Given the description of an element on the screen output the (x, y) to click on. 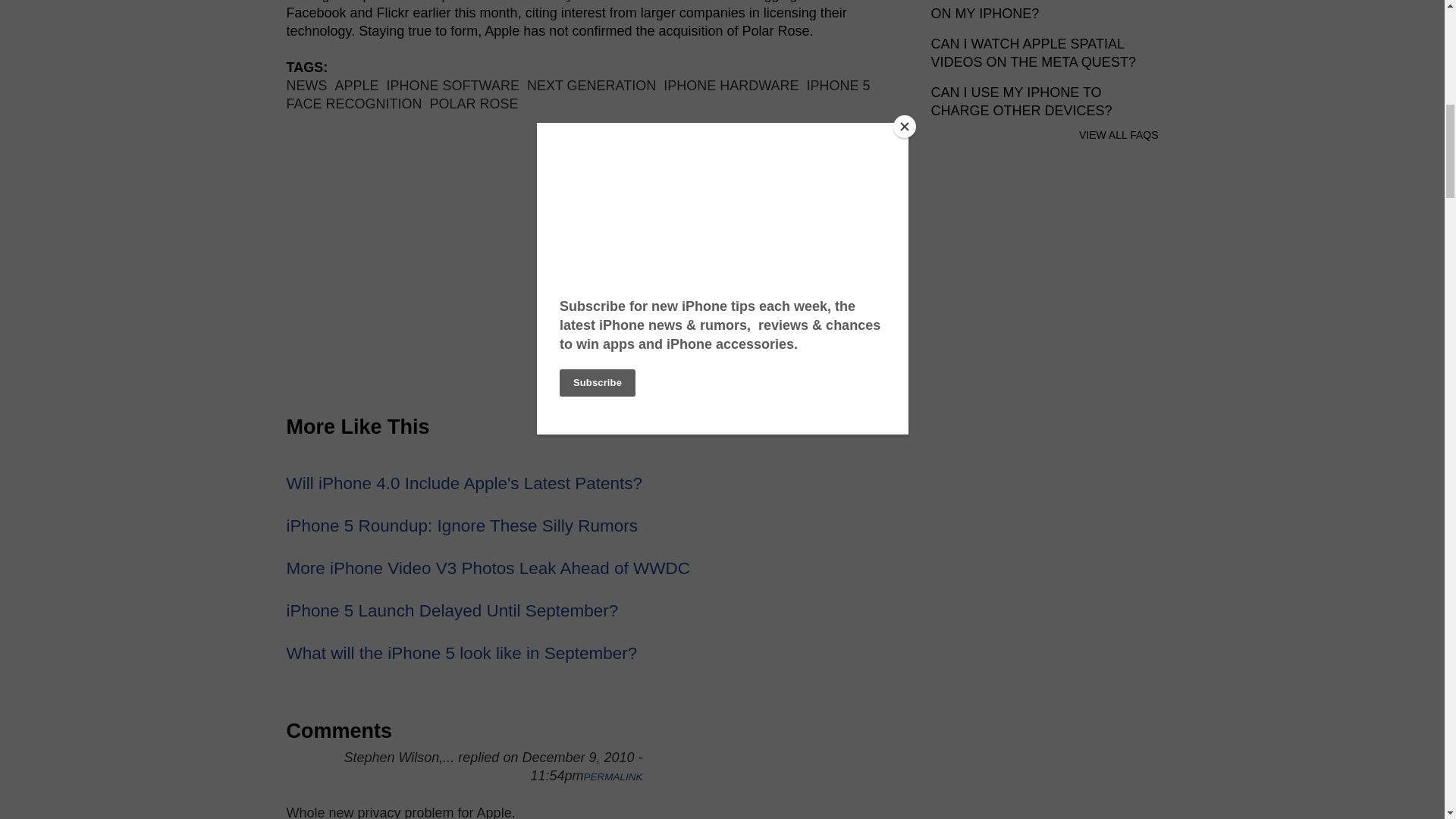
POLAR ROSE (473, 103)
What will the iPhone 5 look like in September? (461, 652)
IPHONE 5 (838, 85)
PERMALINK (612, 776)
FACE RECOGNITION (354, 103)
APPLE (356, 85)
VIEW ALL FAQS (1118, 134)
CAN I USE APPLE INTELLIGENCE ON MY IPHONE? (1039, 10)
CAN I USE MY IPHONE TO CHARGE OTHER DEVICES? (1021, 101)
NEXT GENERATION (591, 85)
More iPhone Video V3 Photos Leak Ahead of WWDC (488, 568)
IPHONE HARDWARE (730, 85)
iPhone 5 Roundup: Ignore These Silly Rumors (462, 525)
3rd party ad content (1044, 529)
Advertisement (593, 264)
